Given the description of an element on the screen output the (x, y) to click on. 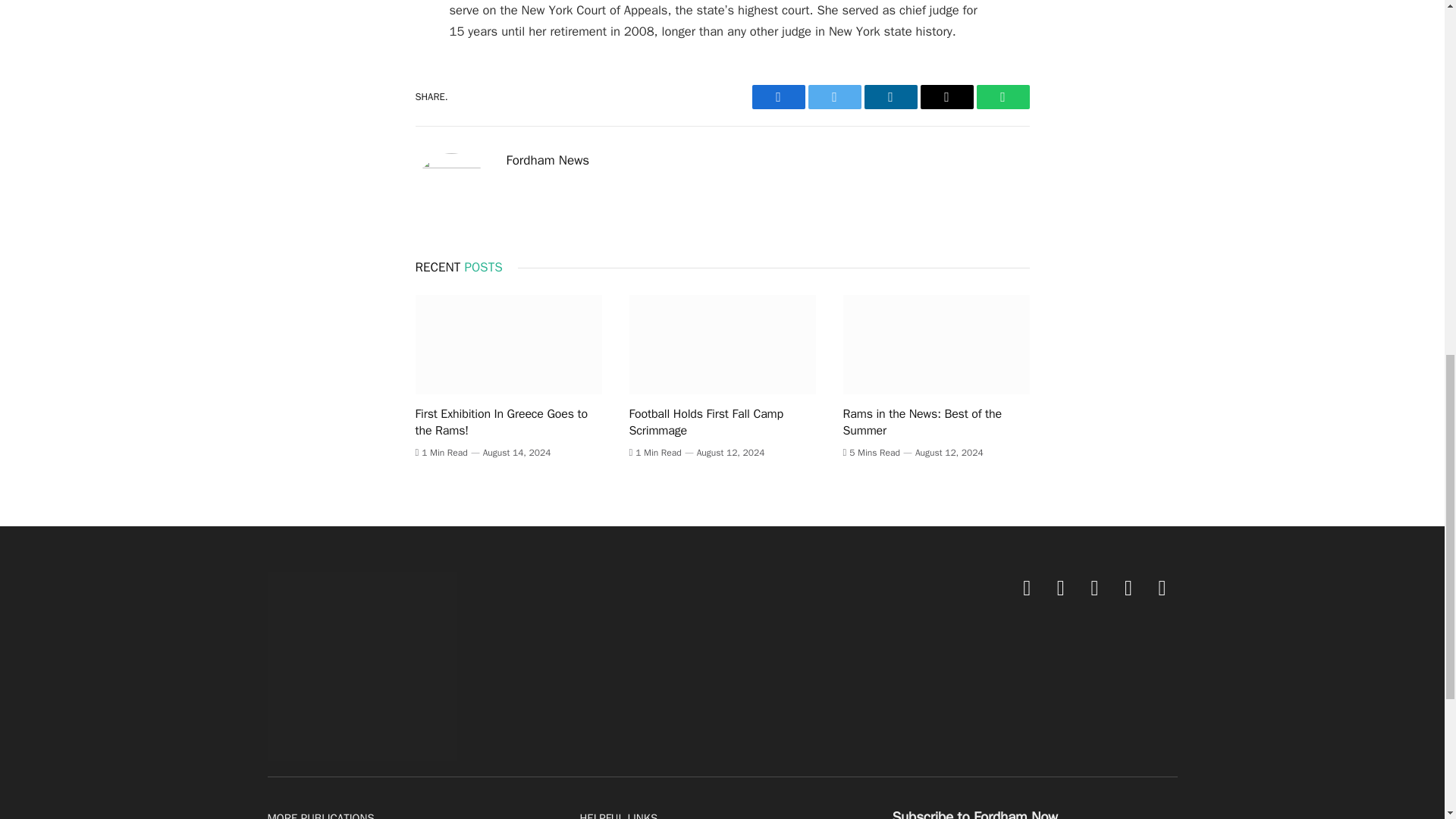
Rams in the News: Best of the Summer (936, 343)
Posts by Fordham News (547, 160)
First Exhibition In Greece Goes to the Rams! (508, 343)
Football Holds First Fall Camp Scrimmage (721, 343)
Share on LinkedIn (890, 96)
Share via Email (947, 96)
Share on WhatsApp (1002, 96)
Share on Facebook (778, 96)
Facebook (778, 96)
Twitter (834, 96)
